Given the description of an element on the screen output the (x, y) to click on. 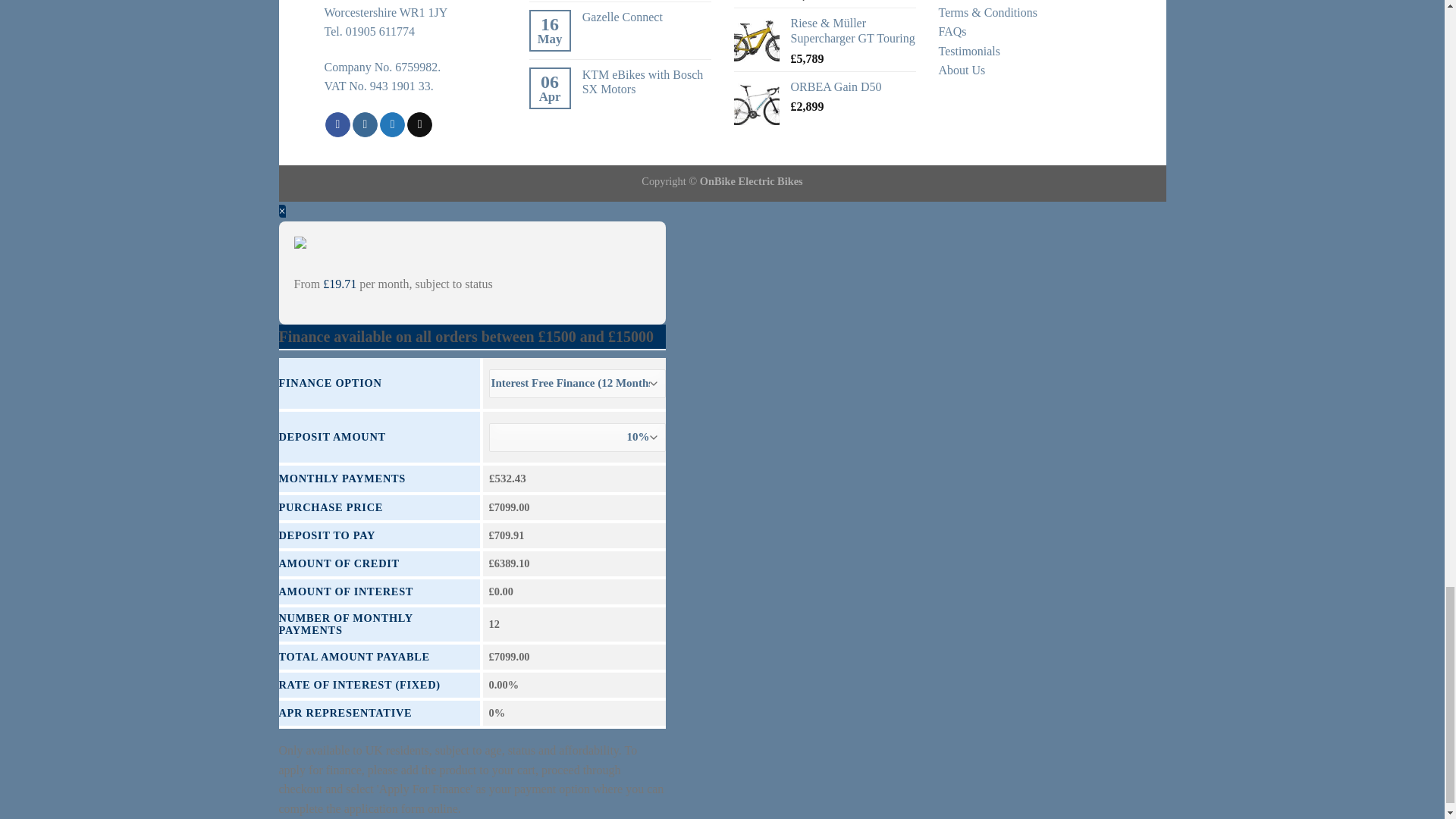
Follow on Instagram (364, 125)
Follow on Facebook (337, 125)
